Given the description of an element on the screen output the (x, y) to click on. 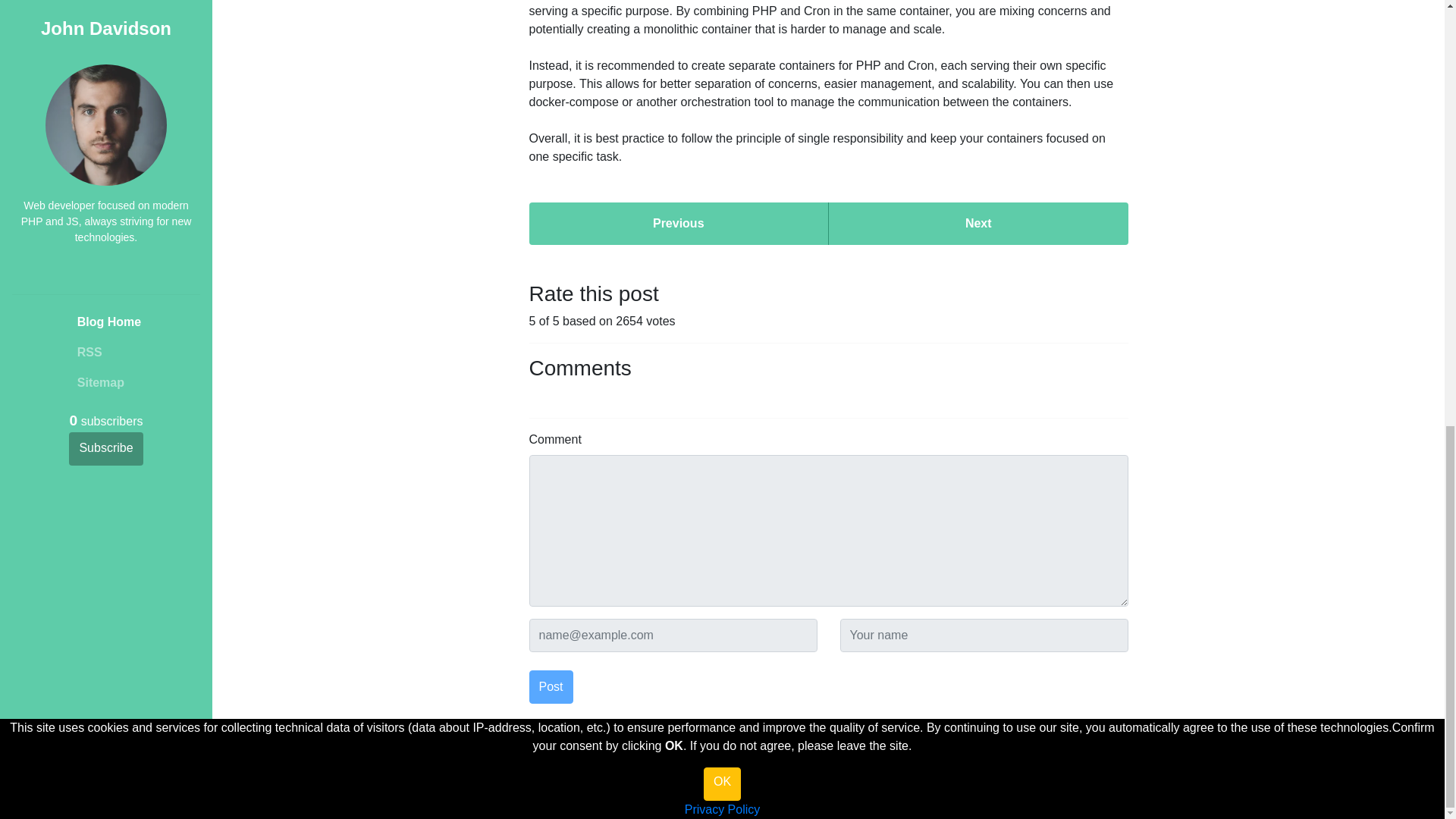
Privacy Policy (783, 809)
Next (978, 223)
Contact Us (947, 809)
Create blog (713, 809)
Previous (679, 223)
Sergey Chizh (869, 767)
Post (551, 686)
Hayatsk.info (742, 791)
